Given the description of an element on the screen output the (x, y) to click on. 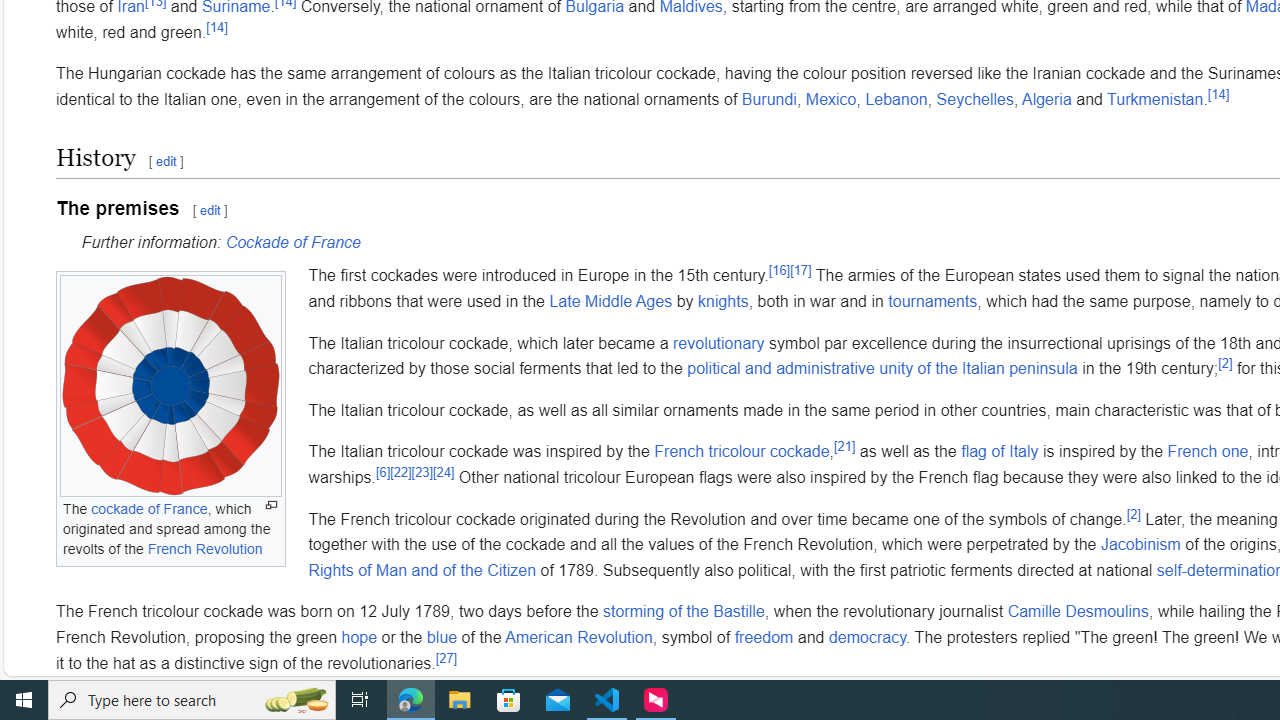
[22] (401, 471)
freedom (763, 636)
Class: mw-file-description (171, 386)
Lebanon (896, 99)
[14] (1218, 93)
hope (358, 636)
democracy (867, 636)
Late Middle Ages (611, 301)
Class: mw-file-element (170, 386)
[17] (800, 270)
cockade of France (148, 509)
[23] (421, 471)
American Revolution (578, 636)
knights (722, 301)
Cockade of France (292, 242)
